Given the description of an element on the screen output the (x, y) to click on. 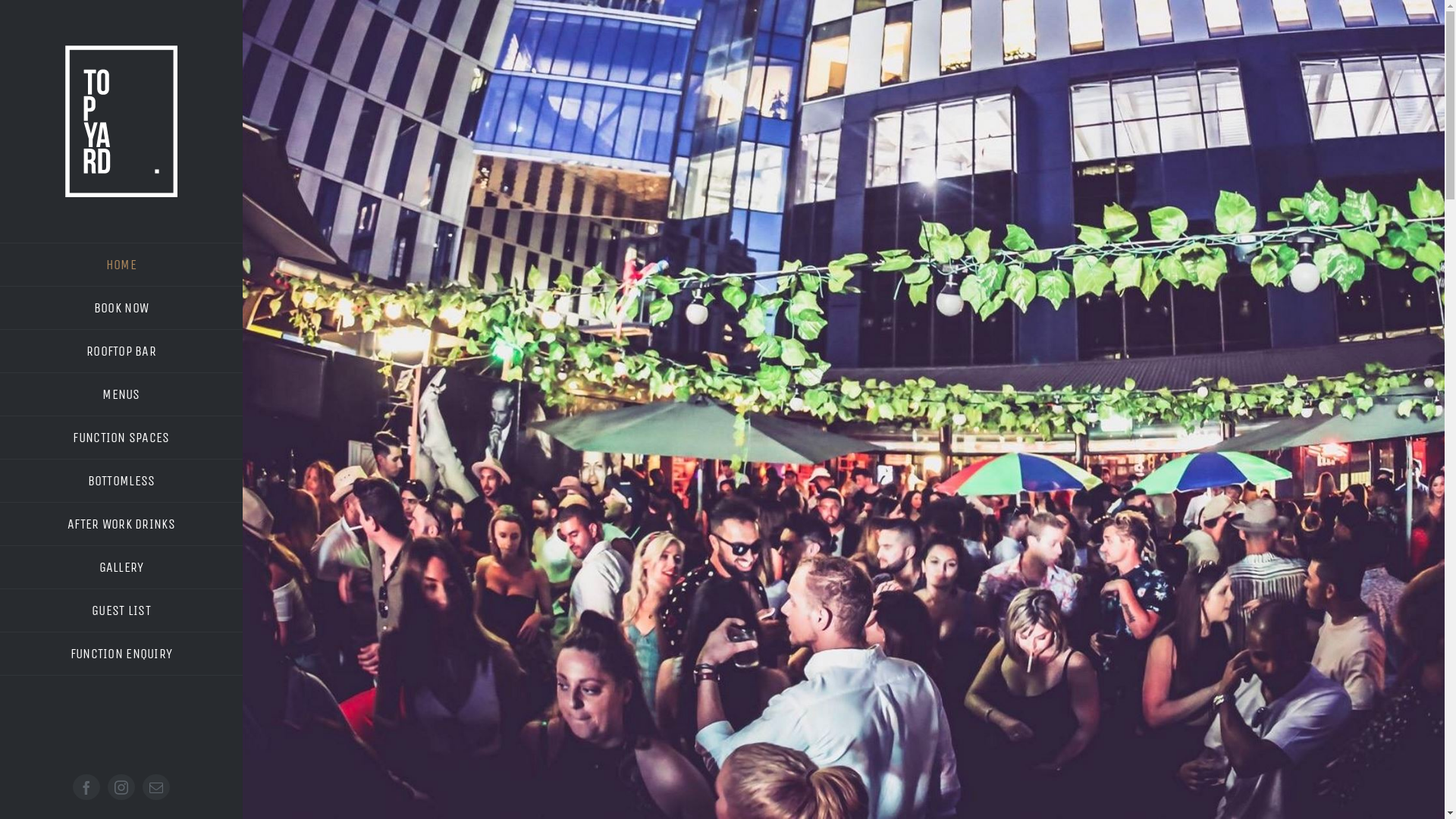
HOME Element type: text (121, 264)
ROOFTOP BAR Element type: text (121, 351)
AFTER WORK DRINKS Element type: text (121, 524)
MENUS Element type: text (121, 394)
BOOK NOW Element type: text (121, 307)
FUNCTION SPACES Element type: text (121, 437)
GUEST LIST Element type: text (121, 610)
BOTTOMLESS Element type: text (121, 480)
FUNCTION ENQUIRY Element type: text (121, 653)
GALLERY Element type: text (121, 567)
